Given the description of an element on the screen output the (x, y) to click on. 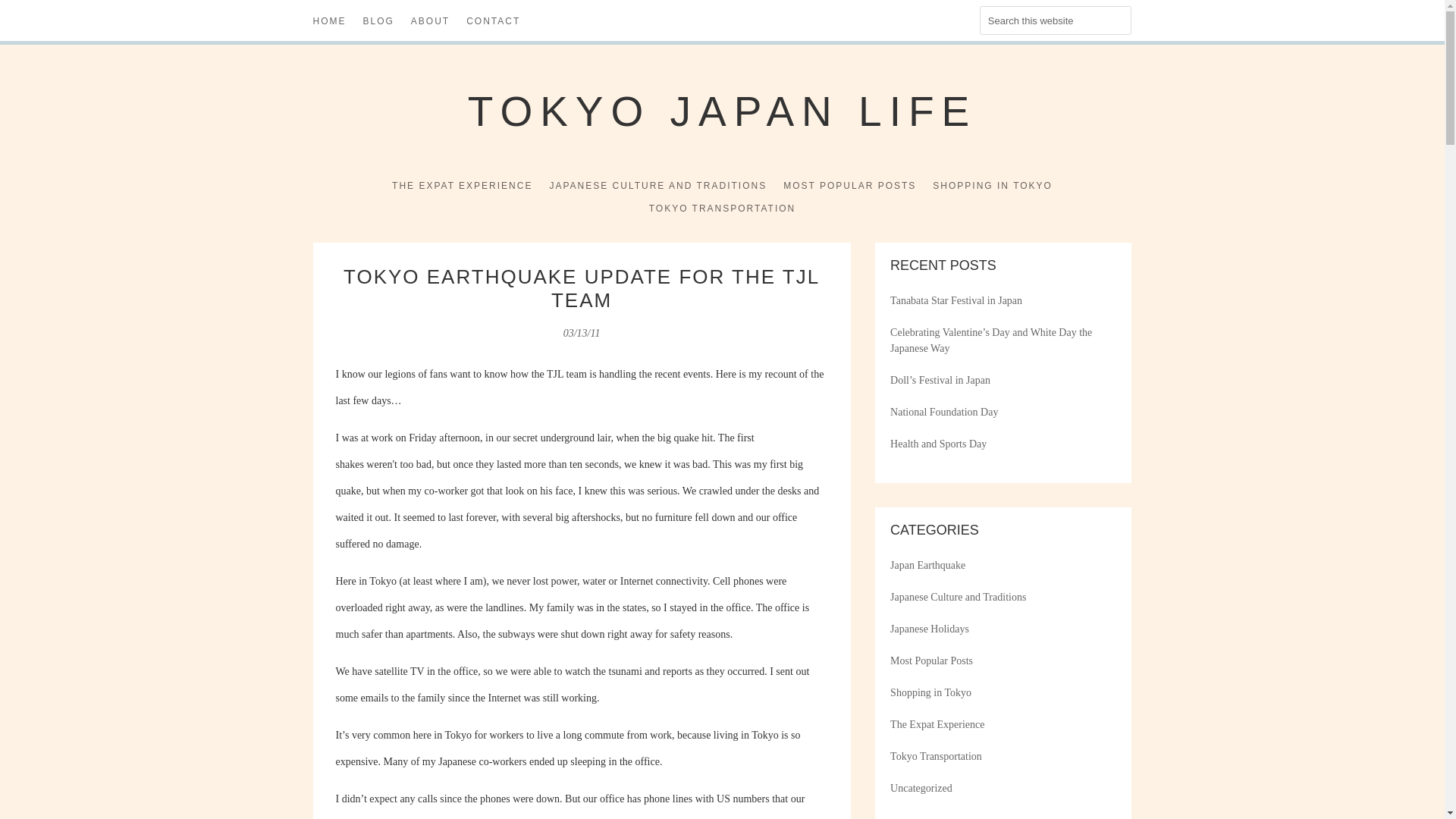
Japanese Holidays (929, 628)
National Foundation Day (943, 411)
TOKYO JAPAN LIFE (721, 111)
THE EXPAT EXPERIENCE (461, 188)
JAPANESE CULTURE AND TRADITIONS (657, 188)
BLOG (377, 23)
Most Popular Posts (930, 660)
TOKYO TRANSPORTATION (722, 211)
Health and Sports Day (938, 443)
Japanese Culture and Traditions (957, 596)
Japan Earthquake (927, 564)
ABOUT (429, 23)
Search (21, 13)
MOST POPULAR POSTS (849, 188)
Shopping in Tokyo (930, 692)
